Given the description of an element on the screen output the (x, y) to click on. 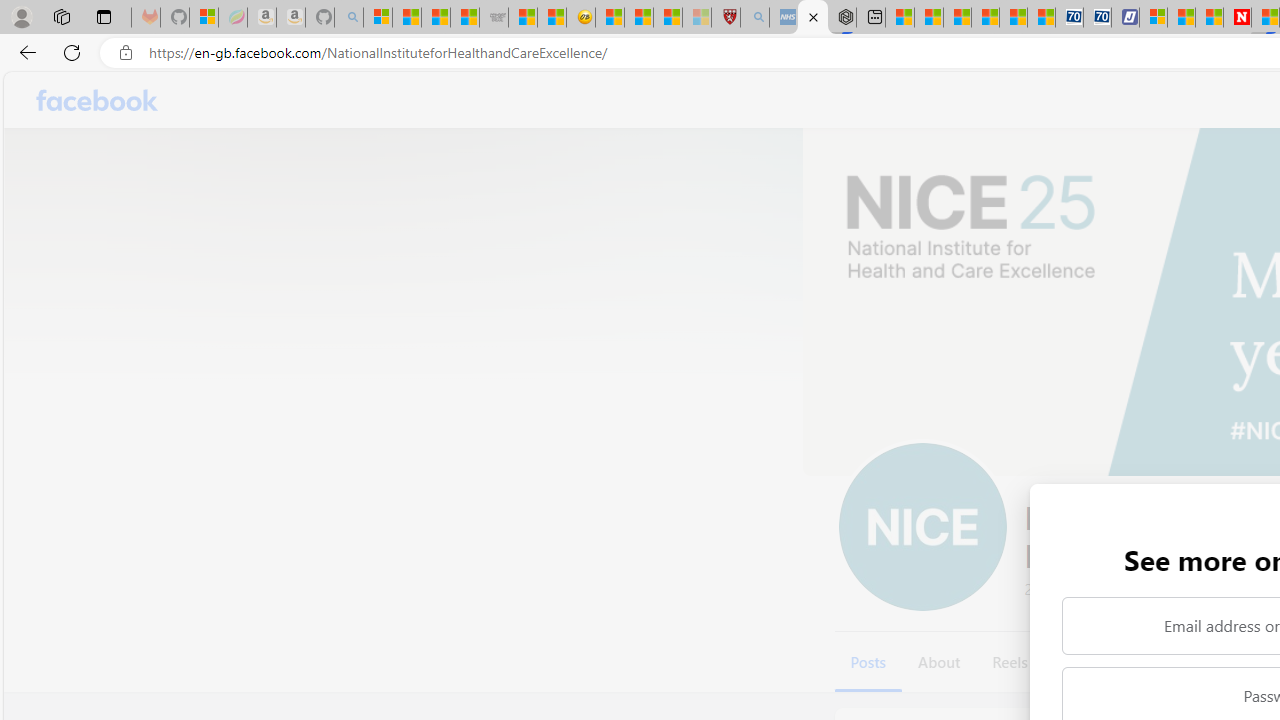
Cheap Hotels - Save70.com (1097, 17)
Facebook (97, 99)
